Given the description of an element on the screen output the (x, y) to click on. 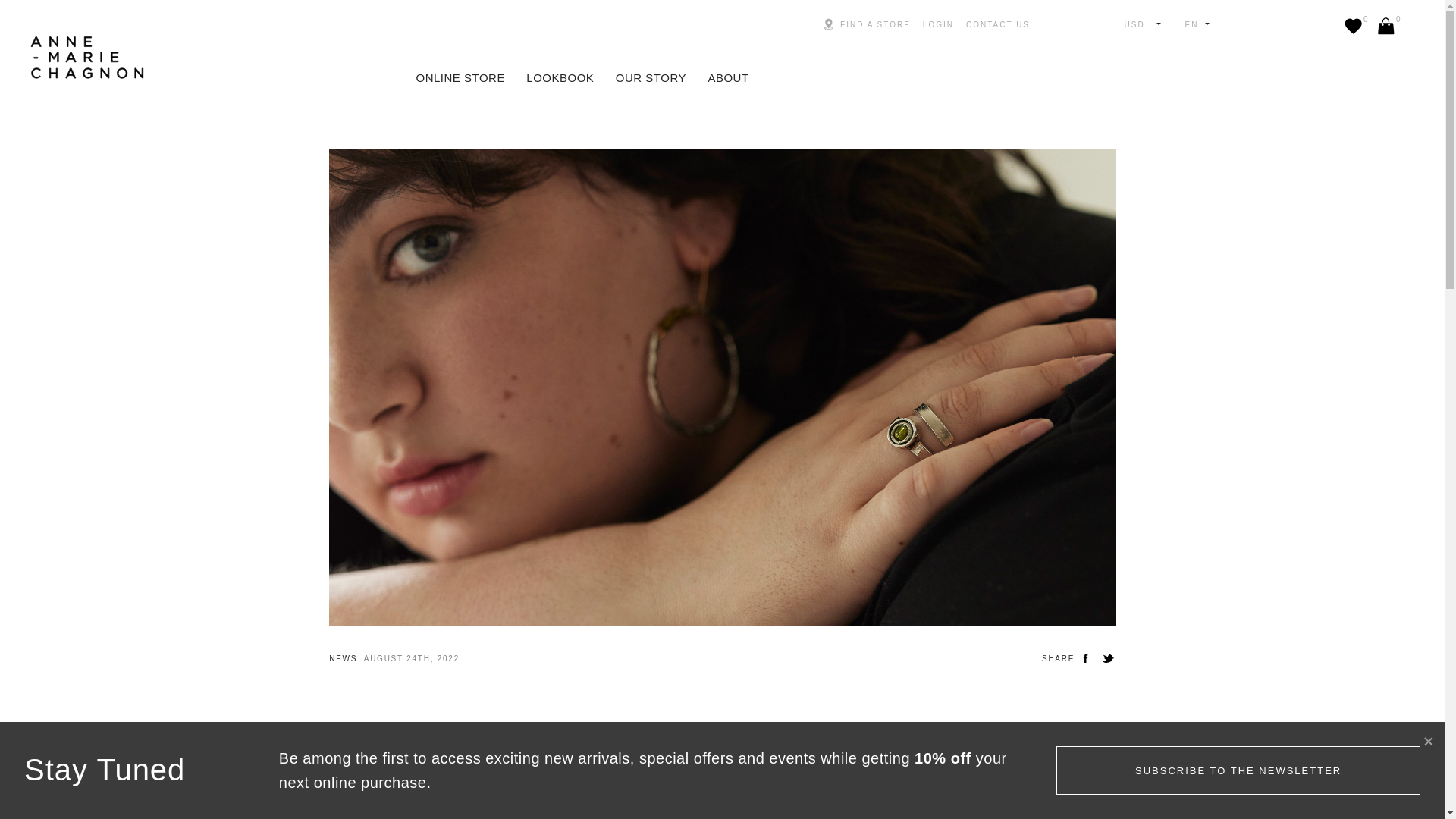
LOGIN (836, 24)
FIND A STORE (1369, 26)
0 (938, 24)
LOOKBOOK (866, 24)
OUR STORY (1385, 26)
0 (559, 79)
ONLINE STORE (651, 79)
ABOUT (1352, 26)
CONTACT US (459, 79)
